Given the description of an element on the screen output the (x, y) to click on. 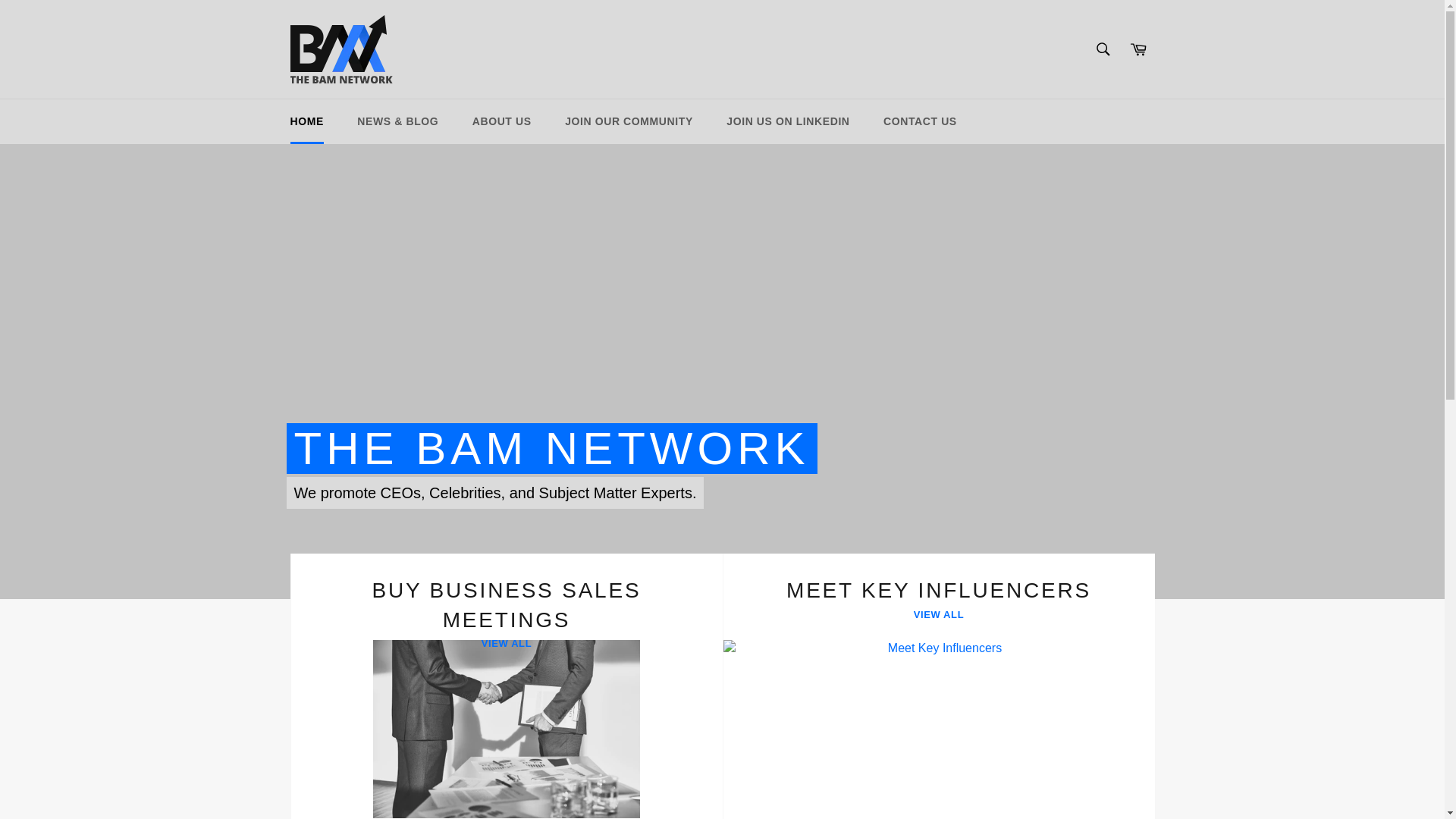
JOIN US ON LINKEDIN (938, 686)
We promote CEOs, Celebrities, and Subject Matter Experts. (787, 121)
Browse our Meet Key Influencers collection (495, 492)
Search (938, 686)
THE BAM NETWORK (1103, 49)
CONTACT US (551, 448)
HOME (919, 121)
JOIN OUR COMMUNITY (306, 121)
ABOUT US (628, 121)
Browse our Buy Business Sales Meetings collection (502, 121)
Cart (505, 686)
